Given the description of an element on the screen output the (x, y) to click on. 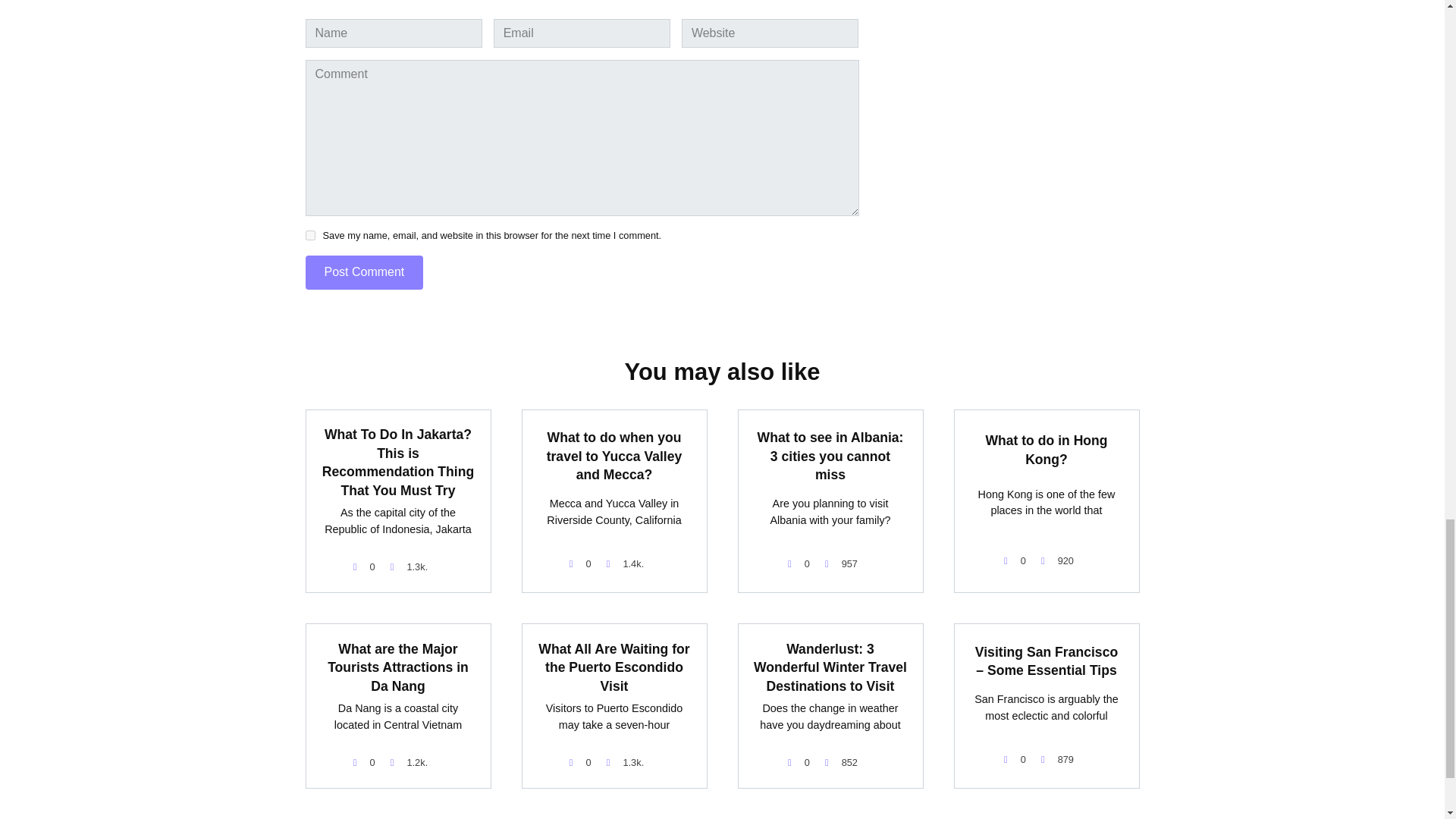
What to do in Hong Kong? (1045, 449)
What to see in Albania: 3 cities you cannot miss (830, 456)
What to do when you travel to Yucca Valley and Mecca? (614, 456)
What All Are Waiting for the Puerto Escondido Visit (613, 667)
Post Comment (363, 271)
What are the Major Tourists Attractions in Da Nang (397, 667)
Wanderlust: 3 Wonderful Winter Travel Destinations to Visit (830, 667)
Post Comment (363, 271)
yes (309, 235)
